Given the description of an element on the screen output the (x, y) to click on. 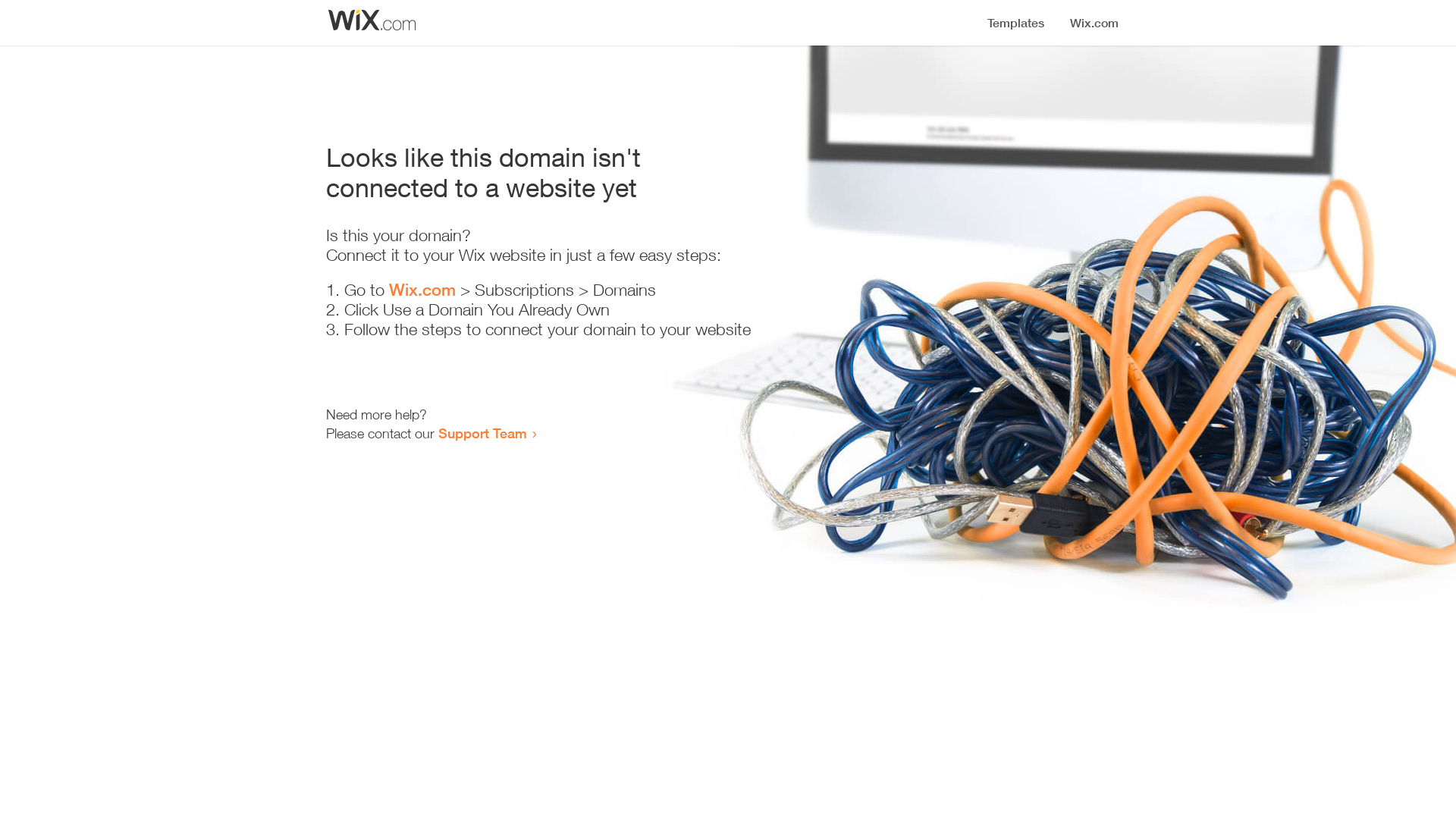
Wix.com Element type: text (422, 289)
Support Team Element type: text (482, 432)
